Given the description of an element on the screen output the (x, y) to click on. 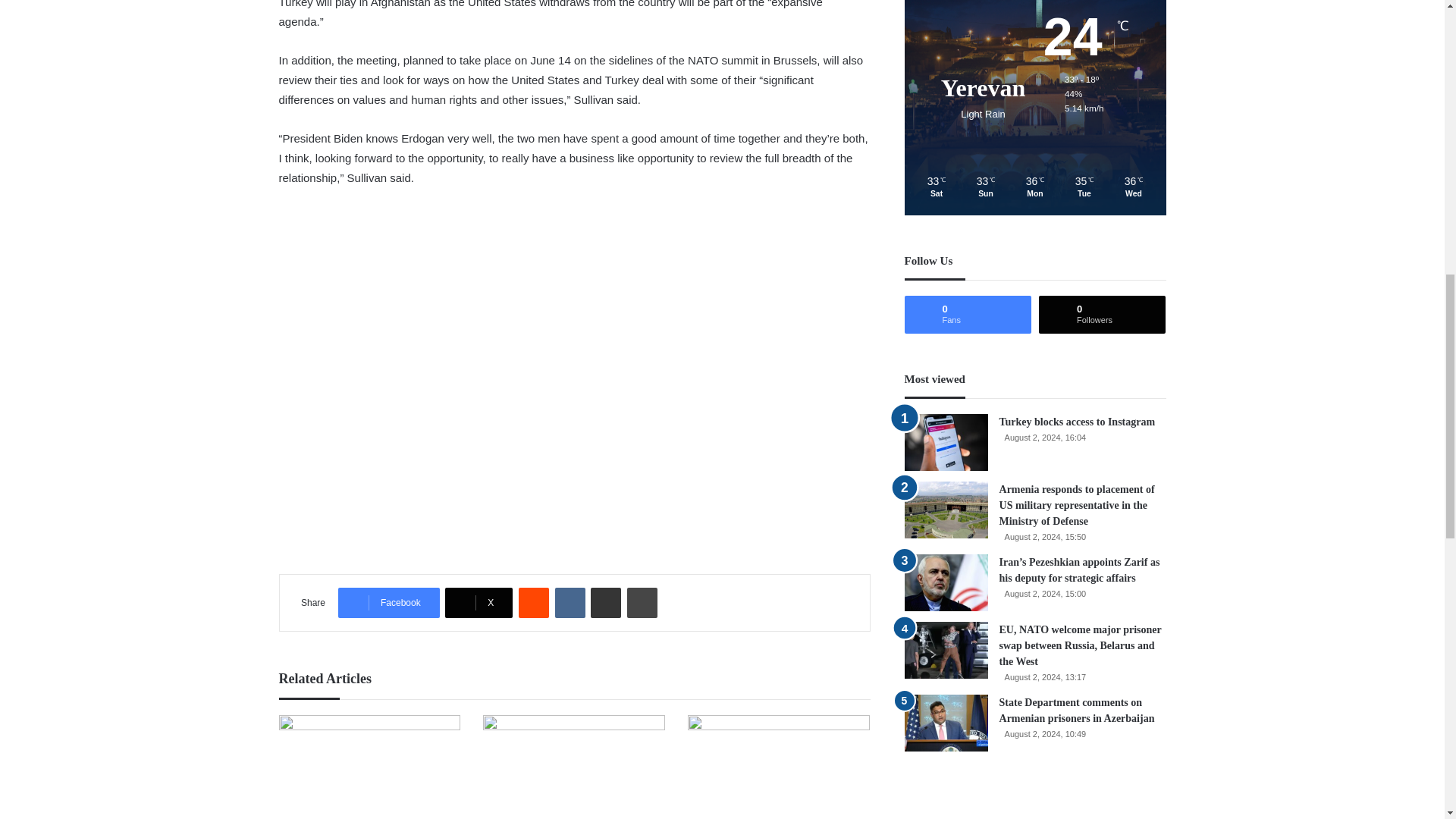
Share via Email (606, 603)
X (478, 603)
Reddit (533, 603)
Print (642, 603)
VKontakte (569, 603)
Facebook (388, 603)
